Given the description of an element on the screen output the (x, y) to click on. 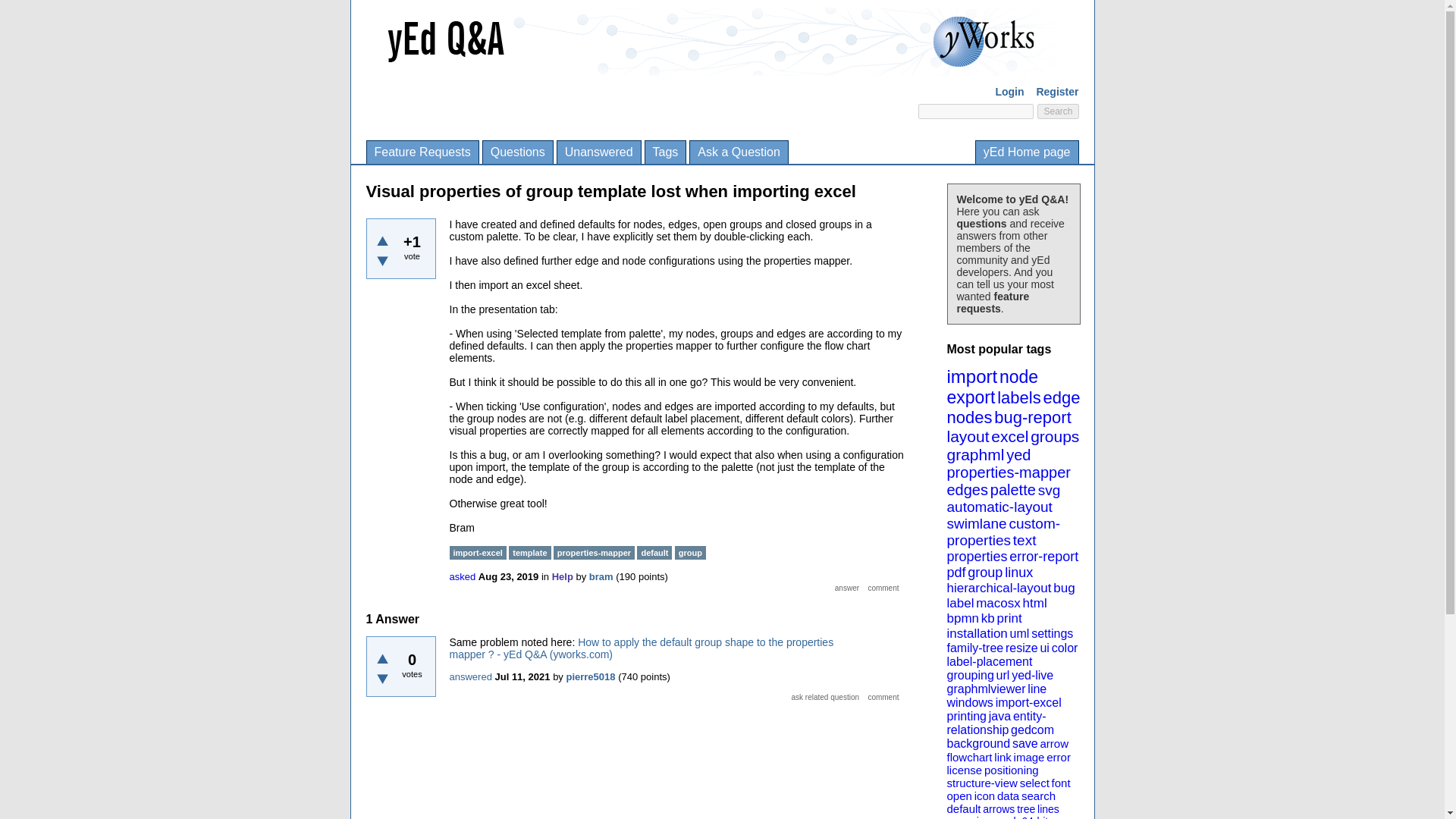
pdf (955, 572)
properties-mapper (1008, 472)
swimlane (976, 523)
Register (1056, 91)
Search (1057, 111)
group (985, 572)
groups (1054, 436)
label (960, 603)
labels (1019, 397)
Unanswered (598, 151)
node (1018, 376)
Click to vote up (381, 658)
Click to vote down (381, 260)
linux (1018, 572)
Click to vote up (381, 240)
